Given the description of an element on the screen output the (x, y) to click on. 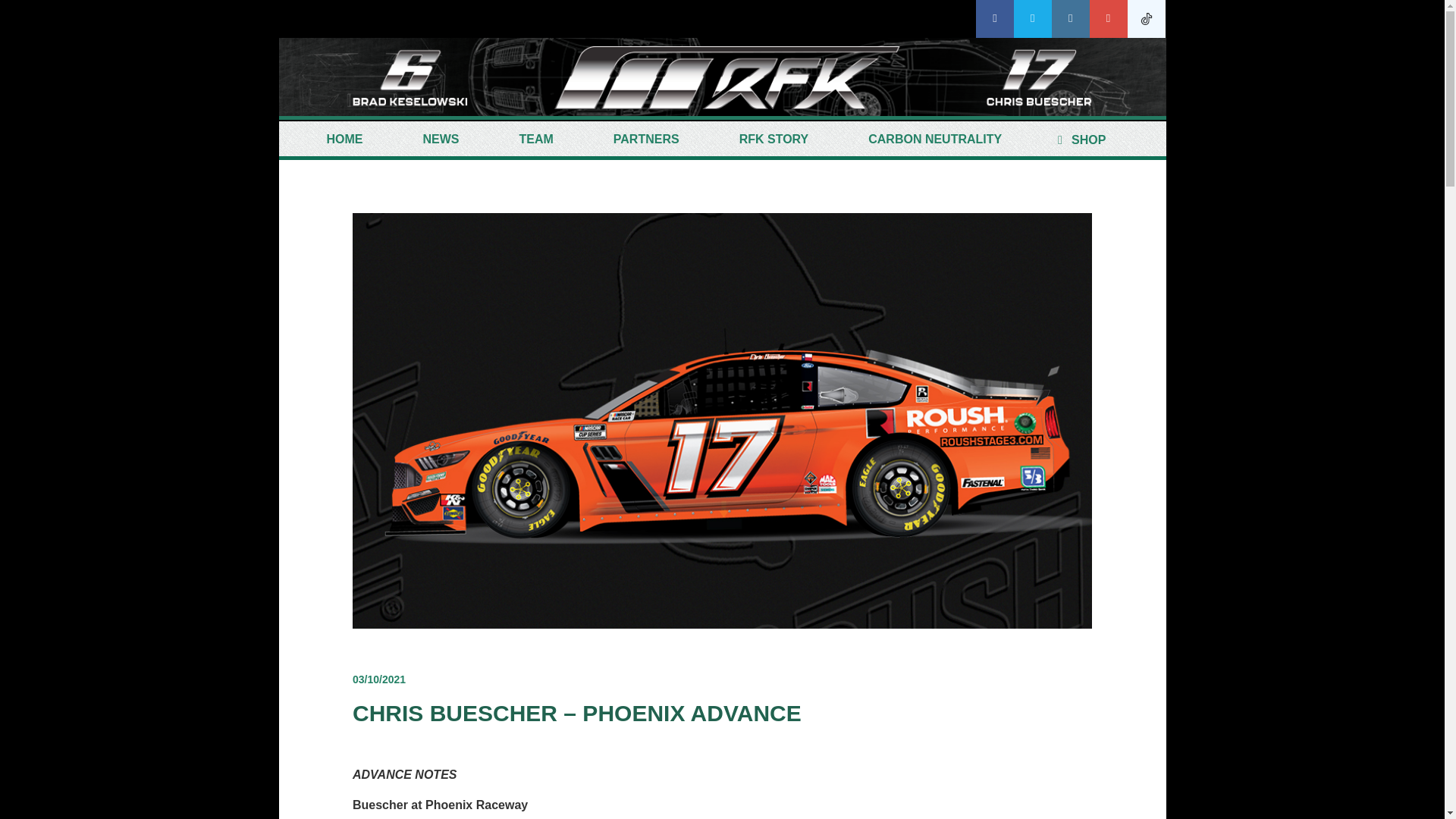
CARBON NEUTRALITY (935, 139)
HOME (344, 139)
SHOP  (1078, 139)
PARTNERS (646, 139)
TEAM (536, 139)
RFK STORY (773, 139)
NEWS (440, 139)
